Given the description of an element on the screen output the (x, y) to click on. 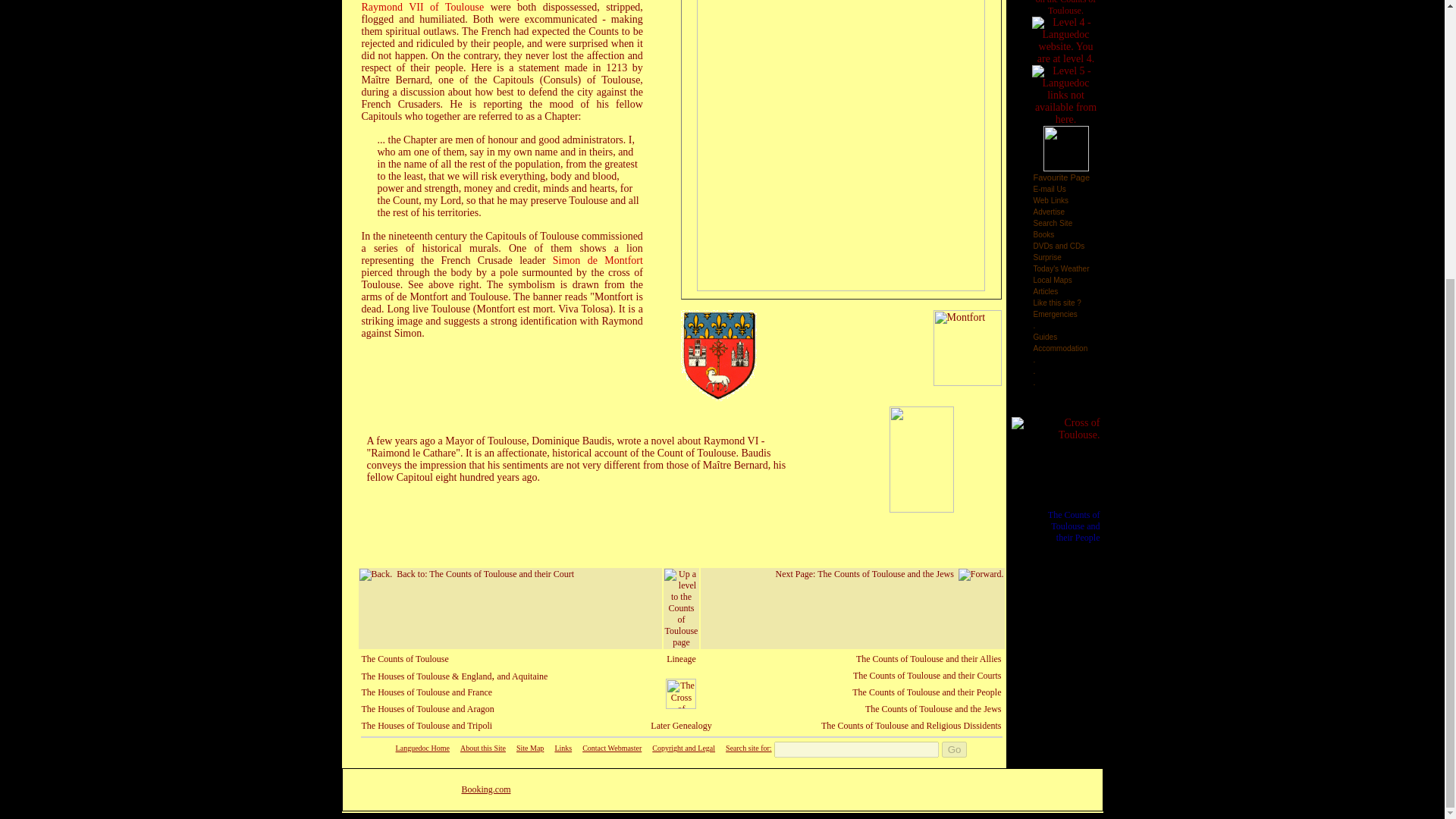
Simon de Montfort (598, 260)
and Aquitaine (521, 675)
Next Page: The Counts of Toulouse and the Jews   (888, 573)
  Back to: The Counts of Toulouse and their Court (467, 573)
The Counts of Toulouse (404, 658)
Raymond VII of Toulouse (425, 7)
The Houses of Toulouse and France (426, 692)
The Counts of Toulouse and their Courts (927, 675)
The Counts of Toulouse and their Allies (928, 658)
